Given the description of an element on the screen output the (x, y) to click on. 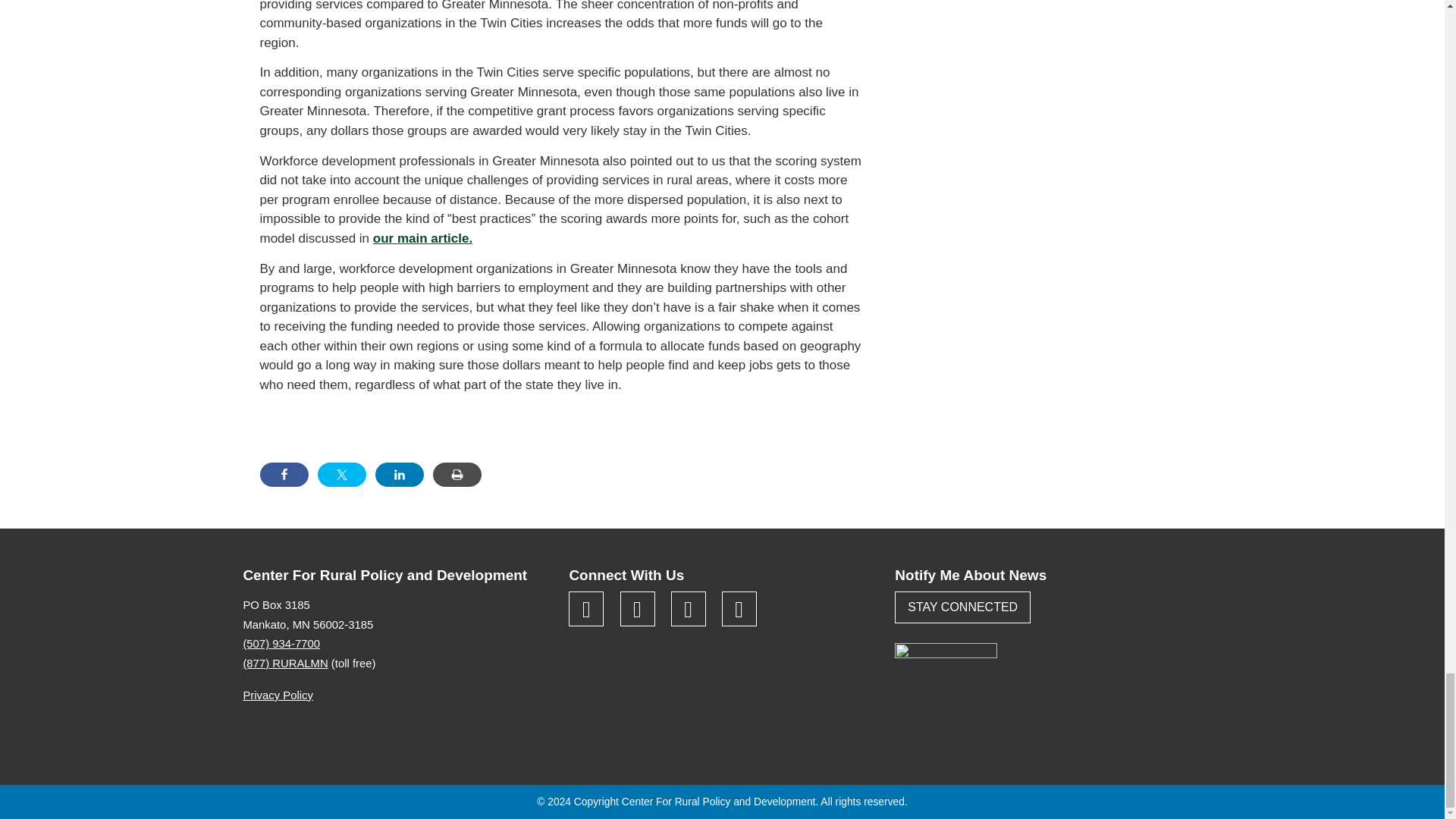
Print this Page (456, 474)
Share on Twitter (341, 474)
Share on LinkedIn (398, 474)
our main article. (421, 237)
Share on Facebook (283, 474)
